Given the description of an element on the screen output the (x, y) to click on. 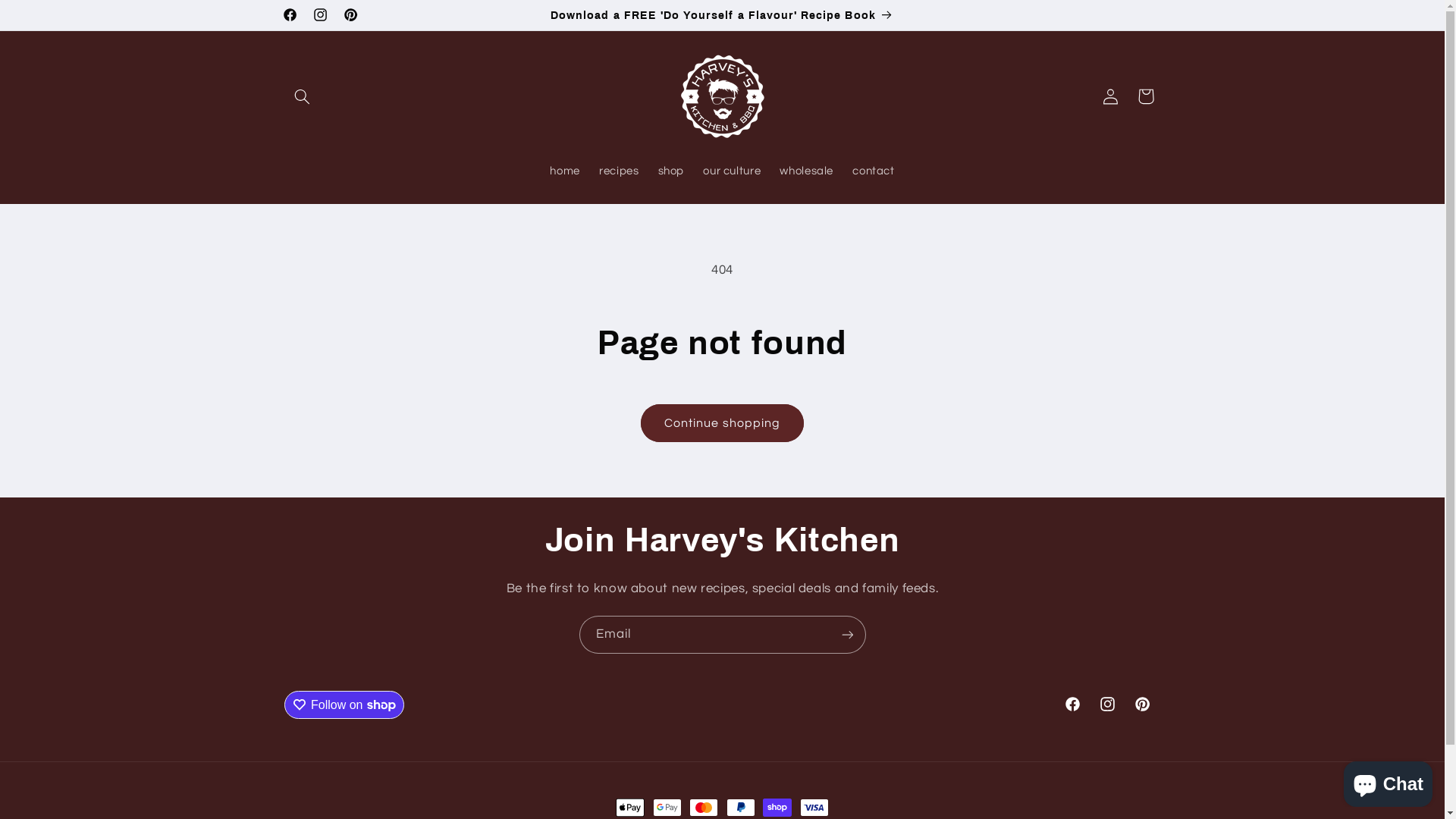
shop Element type: text (670, 171)
Facebook Element type: text (1071, 704)
Instagram Element type: text (319, 15)
contact Element type: text (873, 171)
Facebook Element type: text (289, 15)
Shopify online store chat Element type: hover (1388, 780)
Download a FREE 'Do Yourself a Flavour' Recipe Book Element type: text (722, 15)
Pinterest Element type: text (350, 15)
home Element type: text (564, 171)
Log in Element type: text (1110, 95)
Instagram Element type: text (1107, 704)
recipes Element type: text (618, 171)
our culture Element type: text (731, 171)
wholesale Element type: text (806, 171)
Cart Element type: text (1145, 95)
Continue shopping Element type: text (722, 422)
Pinterest Element type: text (1142, 704)
